Given the description of an element on the screen output the (x, y) to click on. 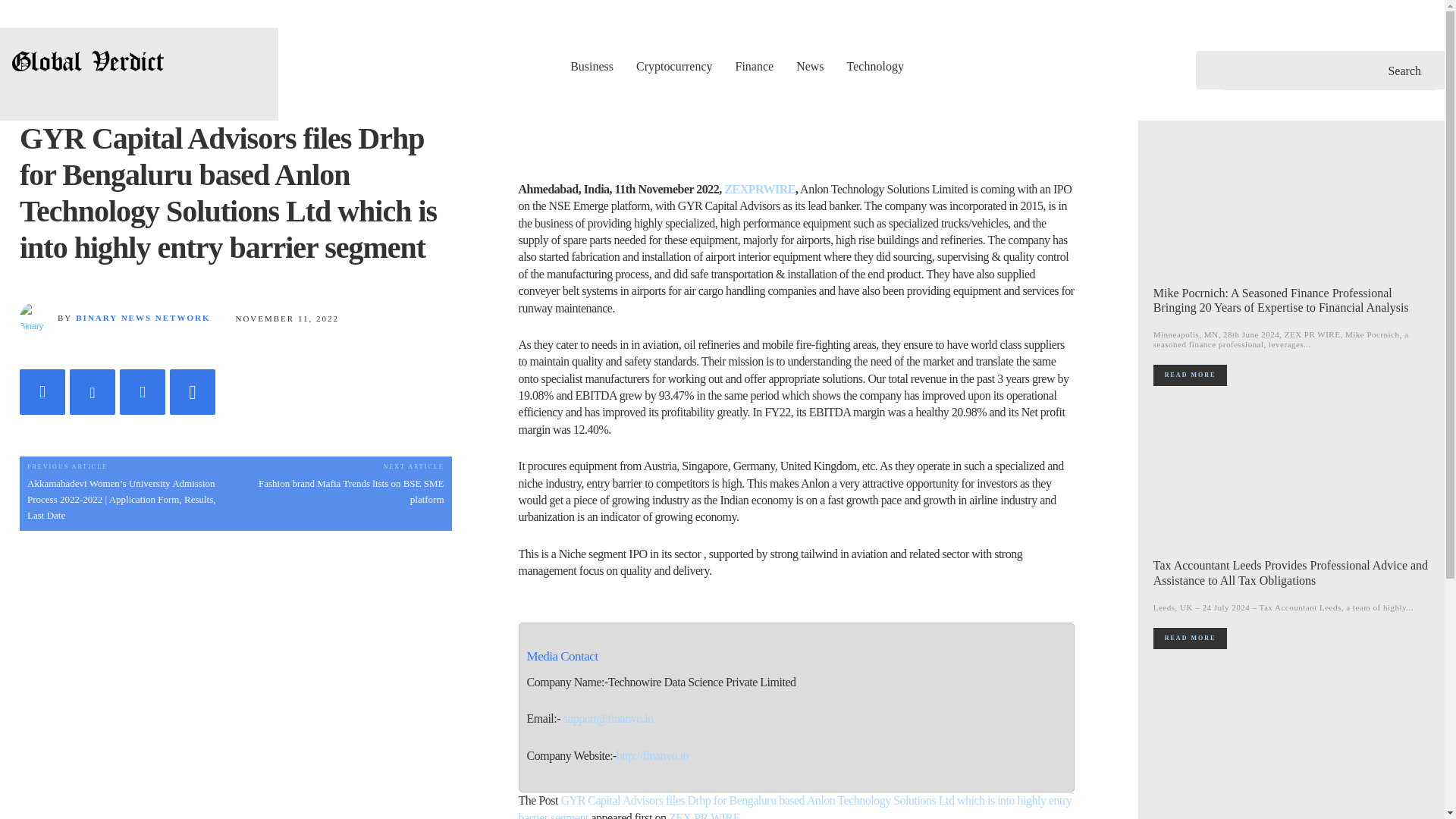
ZEXPRWIRE (758, 188)
Binary News Network (39, 317)
WhatsApp (192, 391)
READ MORE (1190, 374)
InHapX: Bringing High-Tech Fun to Adult Toys (1292, 741)
Business (591, 65)
Read more (1190, 374)
